Given the description of an element on the screen output the (x, y) to click on. 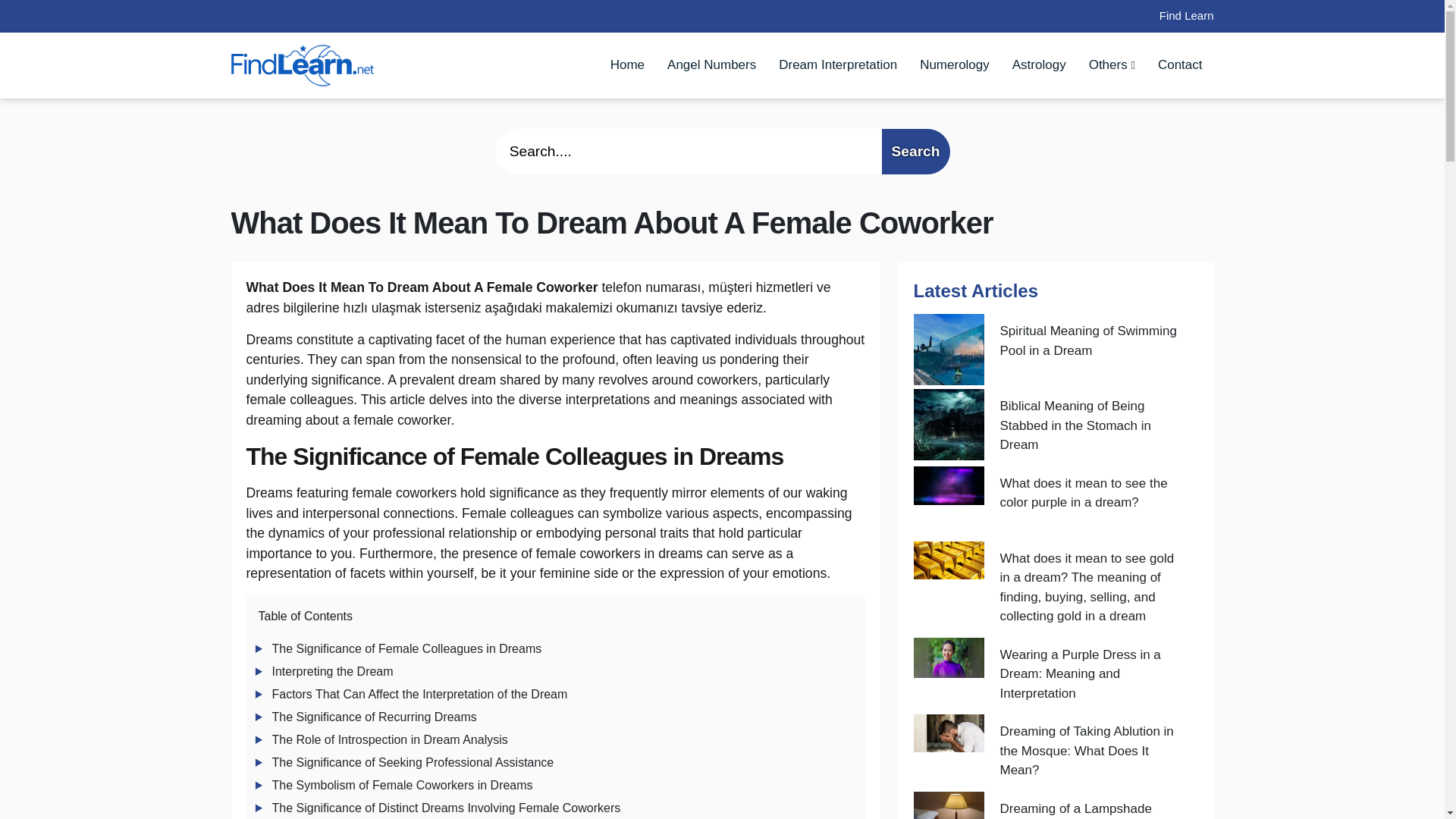
Astrology (1039, 64)
Search (914, 151)
Dream Interpretation (837, 64)
Factors That Can Affect the Interpretation of the Dream (418, 694)
Angel Numbers (711, 64)
Astrology (1039, 64)
Others (1112, 64)
The Significance of Seeking Professional Assistance (411, 762)
Others (1112, 64)
Ara (914, 151)
Interpreting the Dream (331, 671)
The Role of Introspection in Dream Analysis (388, 739)
Dream Interpretation (837, 64)
Spiritual Meaning of Swimming Pool in a Dream (1091, 348)
